Given the description of an element on the screen output the (x, y) to click on. 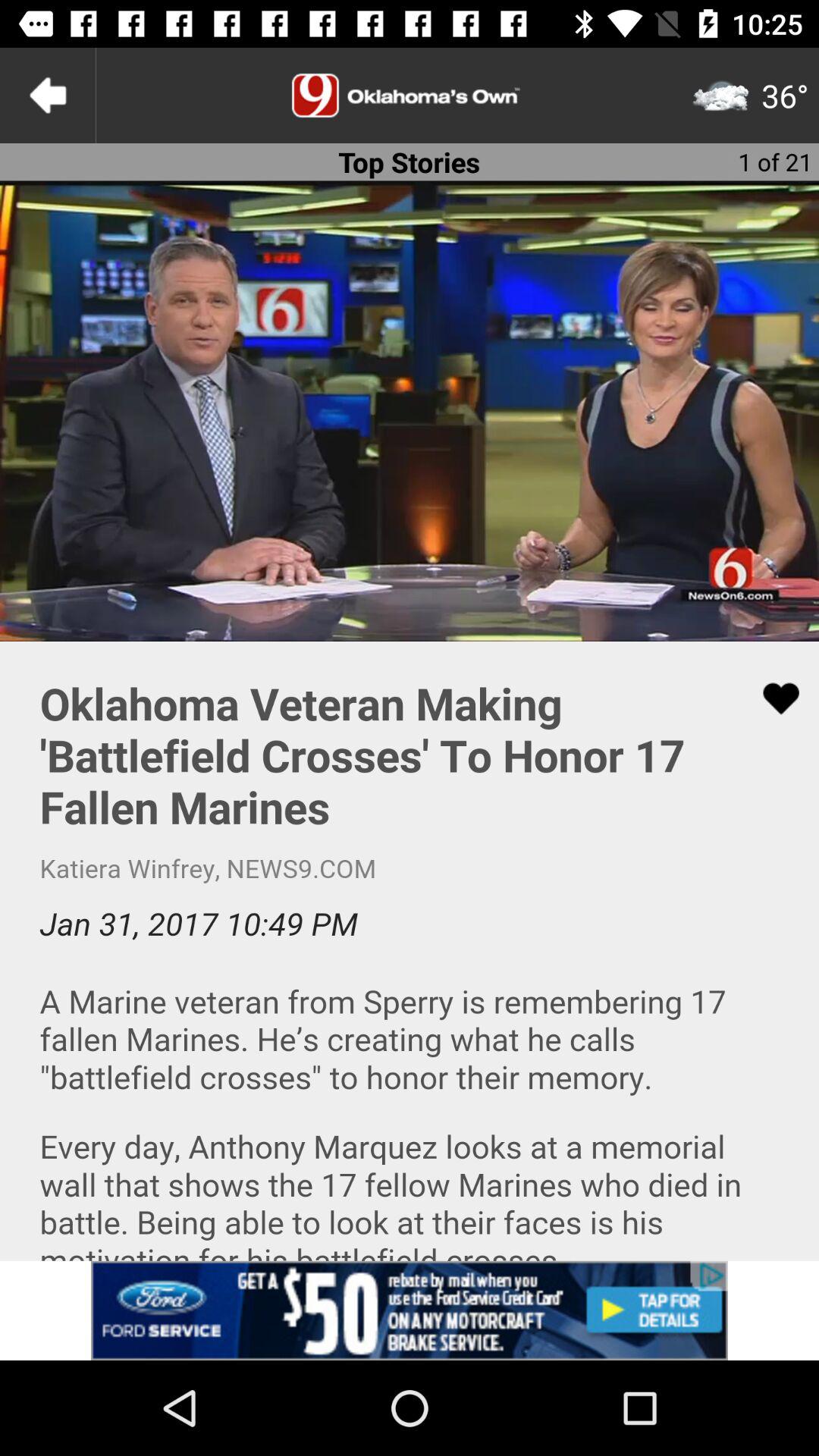
click on like button (771, 698)
